Given the description of an element on the screen output the (x, y) to click on. 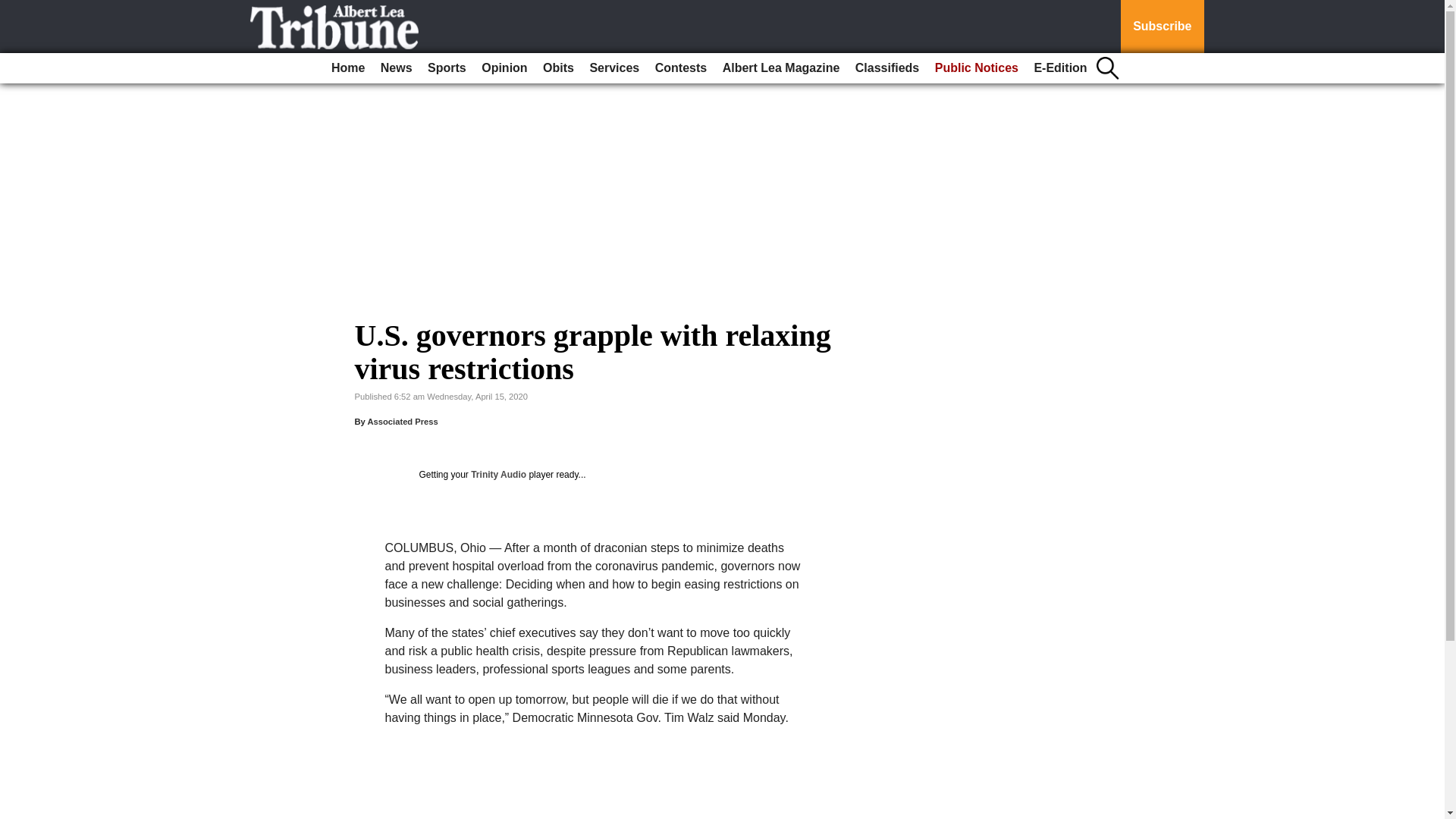
Subscribe (1162, 26)
Home (347, 68)
News (396, 68)
Obits (558, 68)
Opinion (504, 68)
Sports (446, 68)
Services (614, 68)
